Given the description of an element on the screen output the (x, y) to click on. 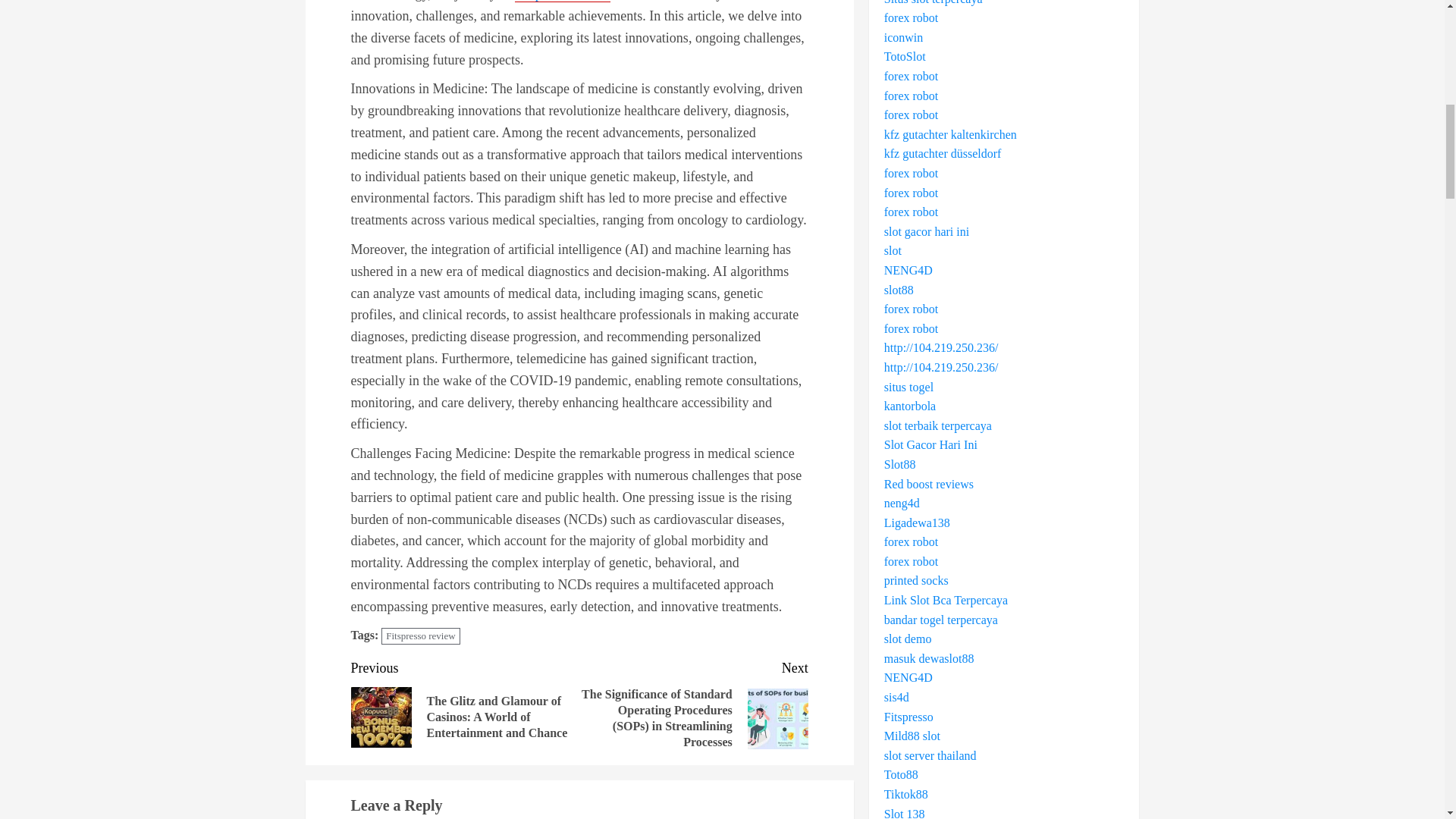
Fitspresso review (562, 1)
Fitspresso review (420, 636)
